Given the description of an element on the screen output the (x, y) to click on. 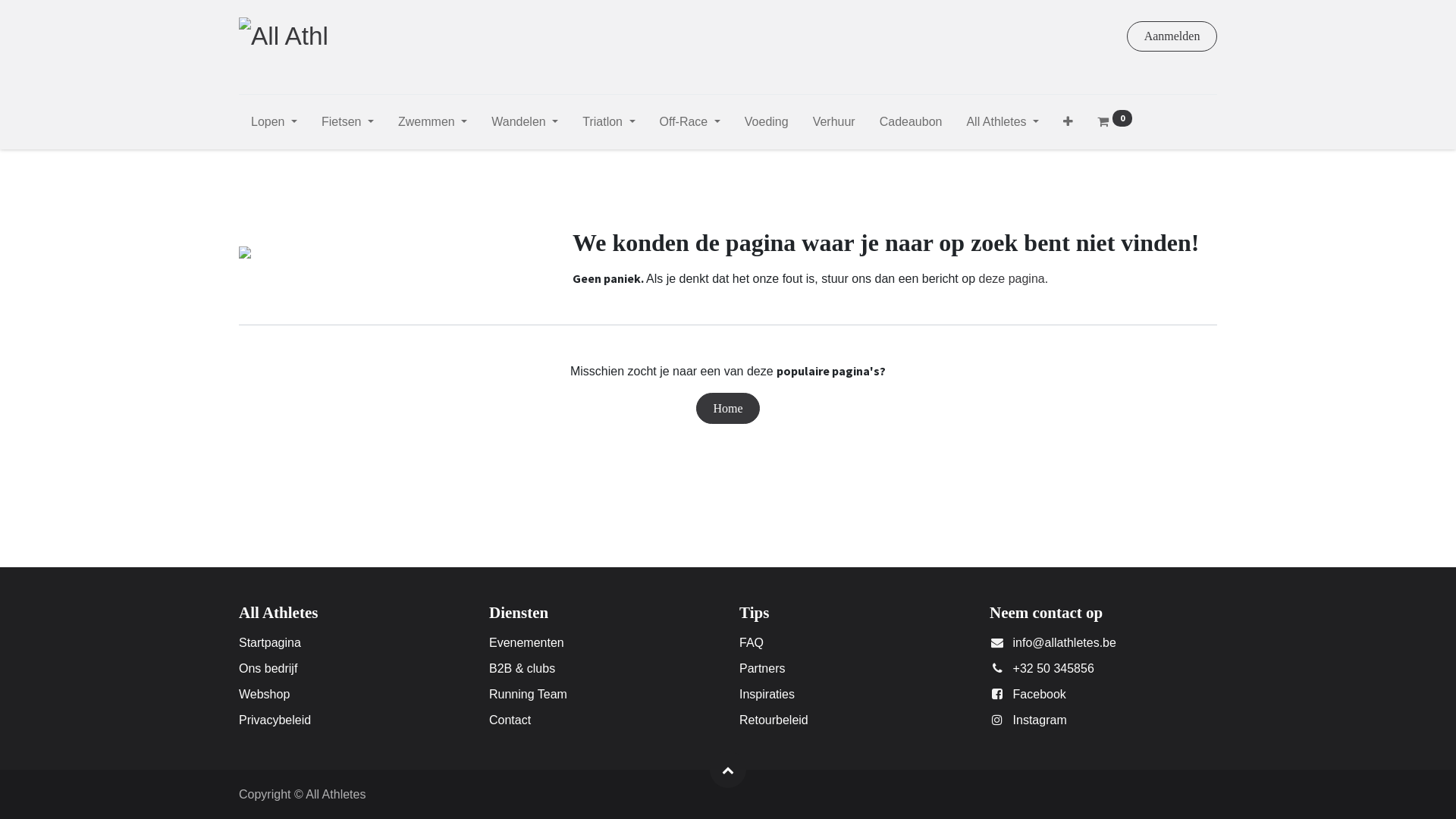
info@allathletes.be Element type: text (1064, 642)
+32 50 345856 Element type: text (1053, 668)
Ons bedrijf Element type: text (267, 668)
Webshop Element type: text (263, 693)
Triatlon Element type: text (608, 124)
Home Element type: text (727, 407)
B2B & clubs Element type: text (522, 668)
Off-Race Element type: text (689, 124)
Lopen Element type: text (274, 124)
Cadeaubon Element type: text (910, 124)
Partners Element type: text (761, 668)
Voeding Element type: text (766, 124)
Retourbeleid Element type: text (773, 719)
Privacybeleid Element type: text (274, 719)
All Athletes Element type: hover (283, 36)
Aanmelden Element type: text (1171, 36)
Zwemmen Element type: text (432, 124)
Evenementen Element type: text (526, 642)
Wandelen Element type: text (524, 124)
0 Element type: text (1114, 124)
Running Team Element type: text (528, 693)
Startpagina Element type: text (269, 642)
All Athletes Element type: text (1002, 124)
Inspiraties Element type: text (766, 693)
Contact Element type: text (509, 719)
Scroll naar boven Element type: hover (727, 769)
deze pagina Element type: text (1011, 278)
Verhuur Element type: text (833, 124)
FAQ Element type: text (751, 642)
Fietsen Element type: text (347, 124)
Facebook Element type: text (1039, 693)
Instagram Element type: text (1039, 719)
